Given the description of an element on the screen output the (x, y) to click on. 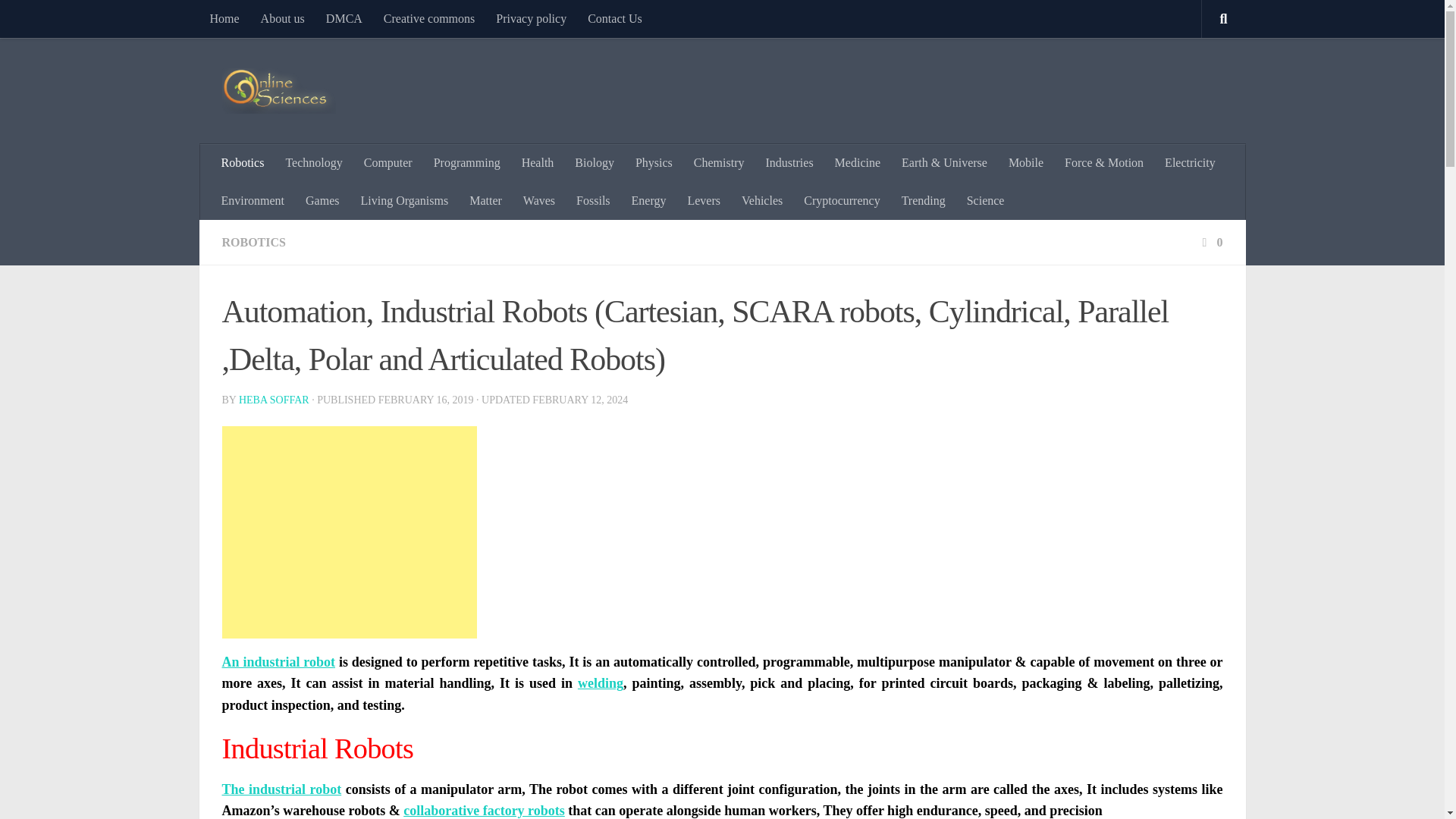
Home (223, 18)
Creative commons (428, 18)
Science (985, 200)
Posts by Heba Soffar (273, 399)
Skip to content (59, 20)
About us (282, 18)
Robotics (243, 162)
DMCA (343, 18)
Contact Us (614, 18)
Privacy policy (530, 18)
